Given the description of an element on the screen output the (x, y) to click on. 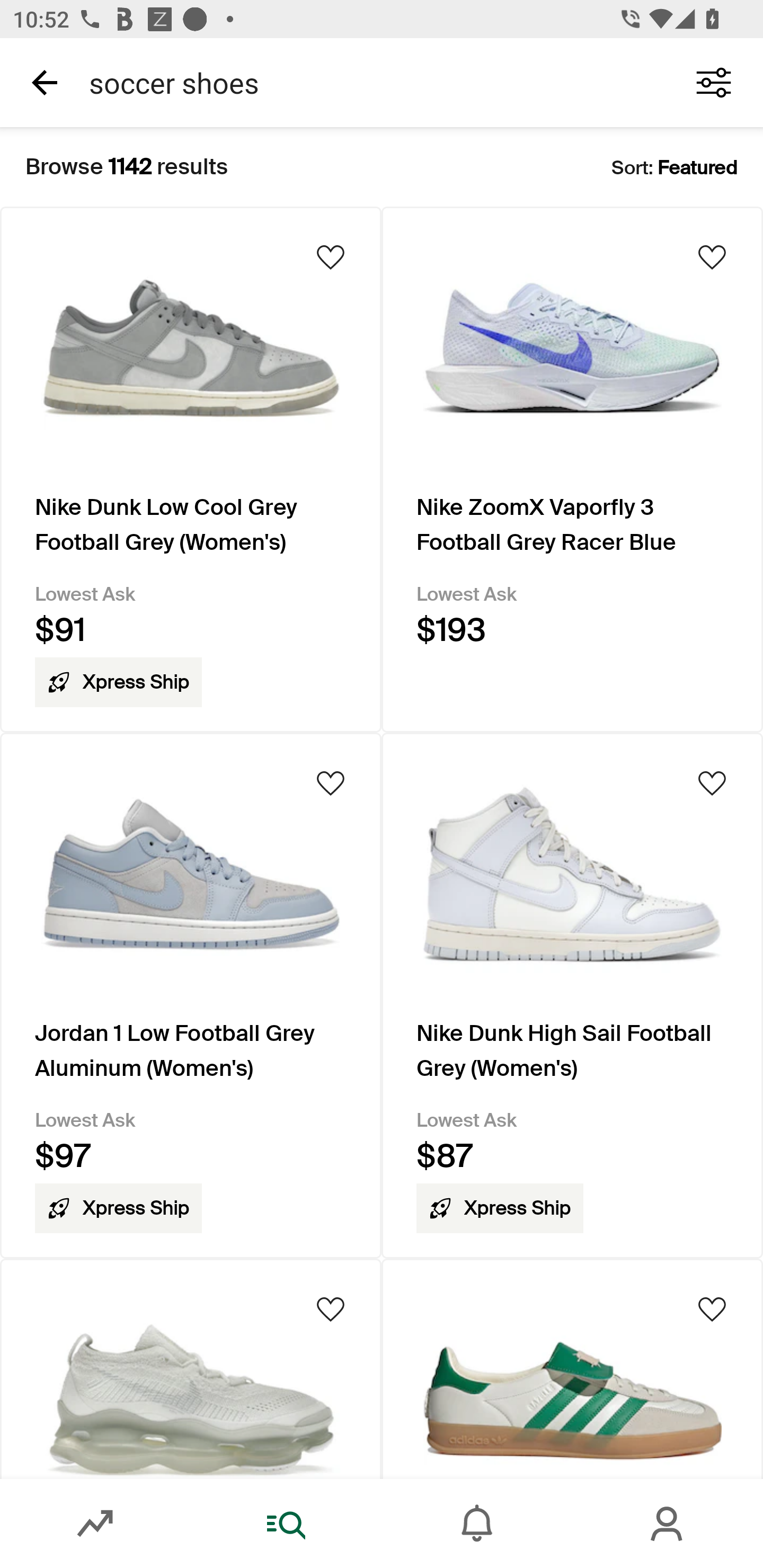
soccer shoes (370, 82)
Product Image (190, 1368)
Product Image (572, 1368)
Market (95, 1523)
Inbox (476, 1523)
Account (667, 1523)
